Given the description of an element on the screen output the (x, y) to click on. 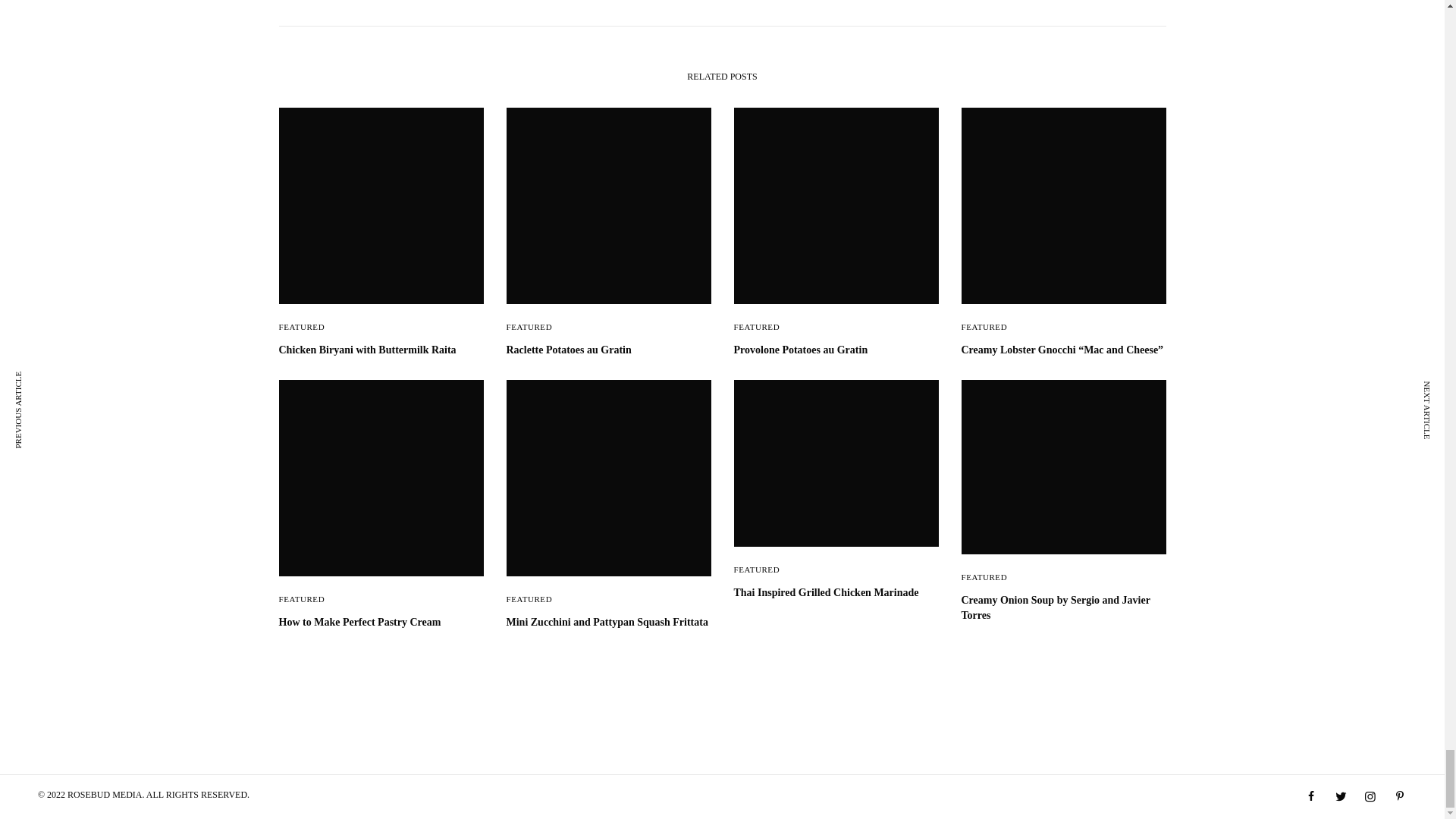
Thai Inspired Grilled Chicken Marinade (836, 592)
Provolone Potatoes au Gratin (836, 350)
Chicken Biryani with Buttermilk Raita (381, 350)
How to Make Perfect Pastry Cream (381, 622)
Mini Zucchini and Pattypan Squash Frittata (608, 622)
Raclette Potatoes au Gratin (608, 350)
Creamy Onion Soup by Sergio and Javier Torres (1063, 607)
